Given the description of an element on the screen output the (x, y) to click on. 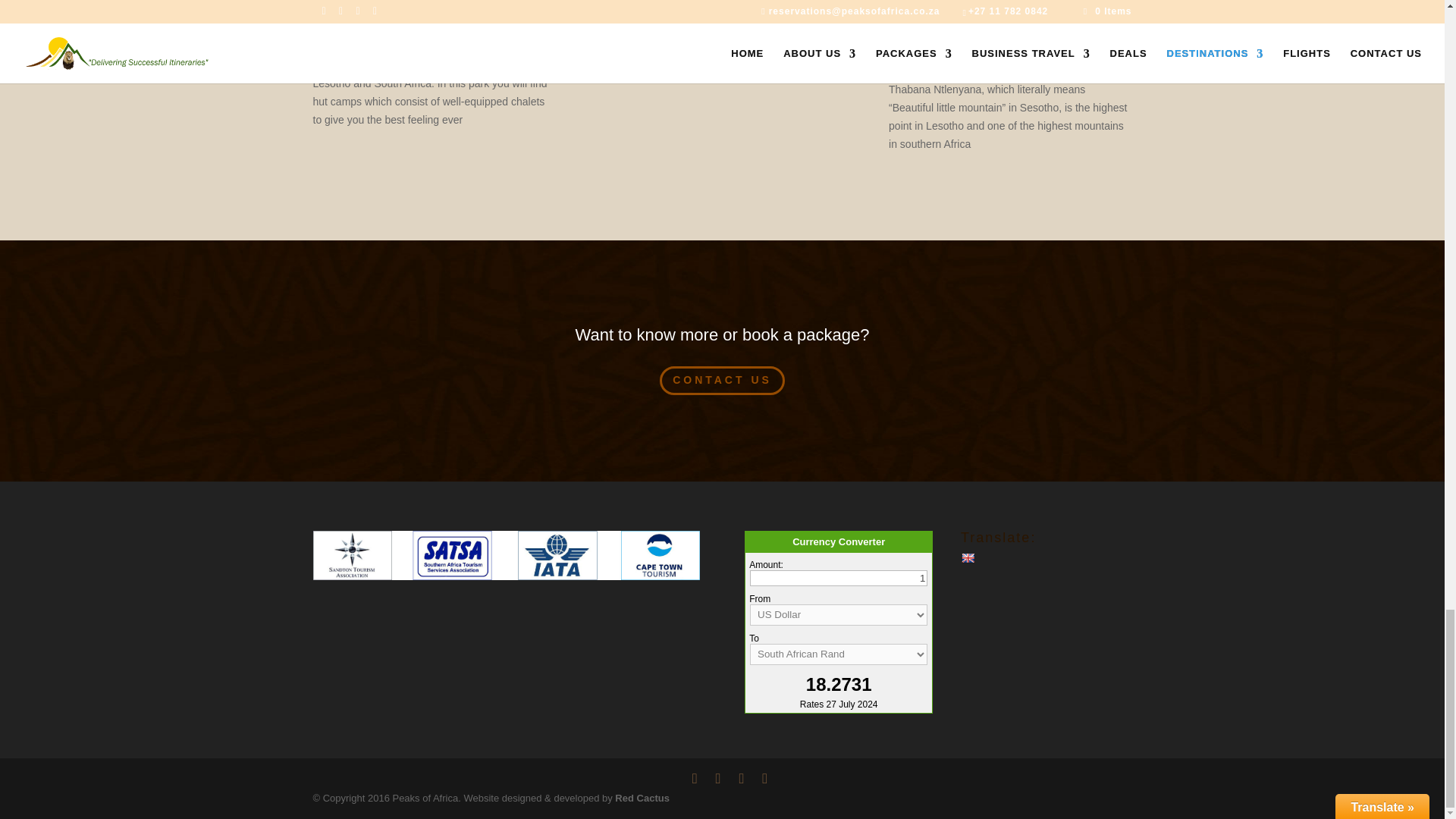
English (967, 558)
1 (838, 578)
